Given the description of an element on the screen output the (x, y) to click on. 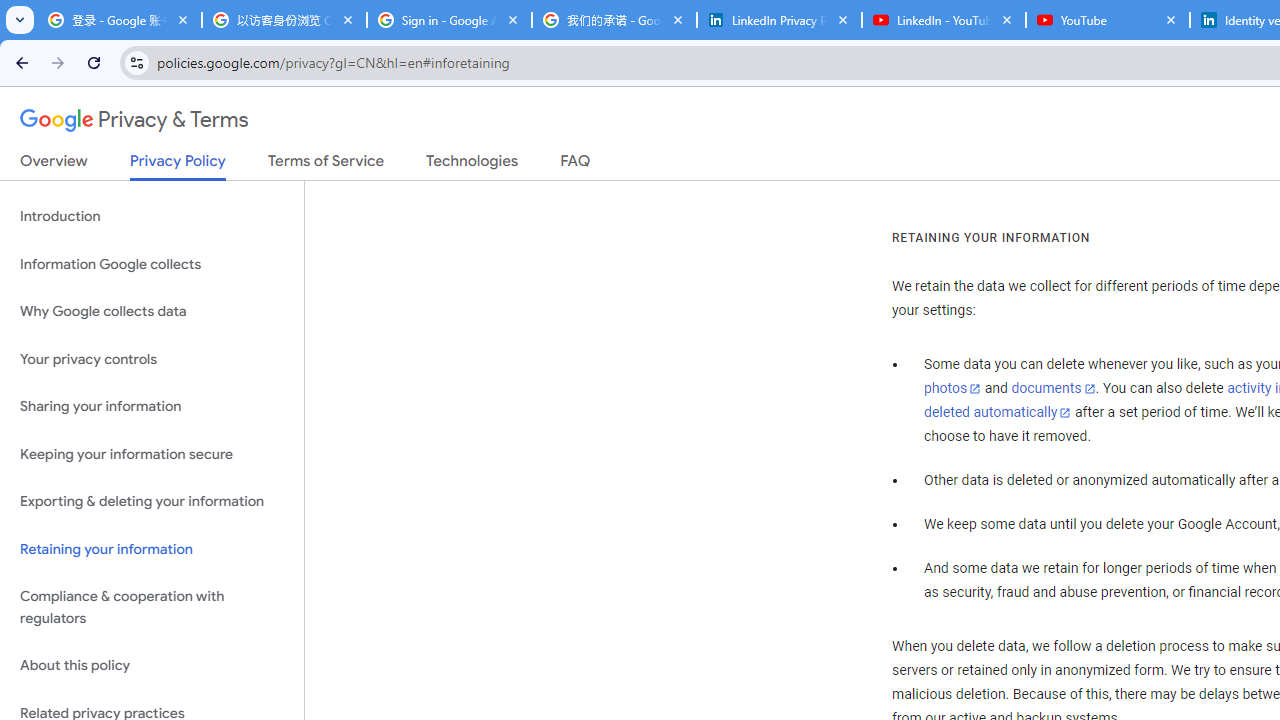
Your privacy controls (152, 358)
photos (952, 389)
YouTube (1108, 20)
LinkedIn Privacy Policy (779, 20)
Information Google collects (152, 263)
